Given the description of an element on the screen output the (x, y) to click on. 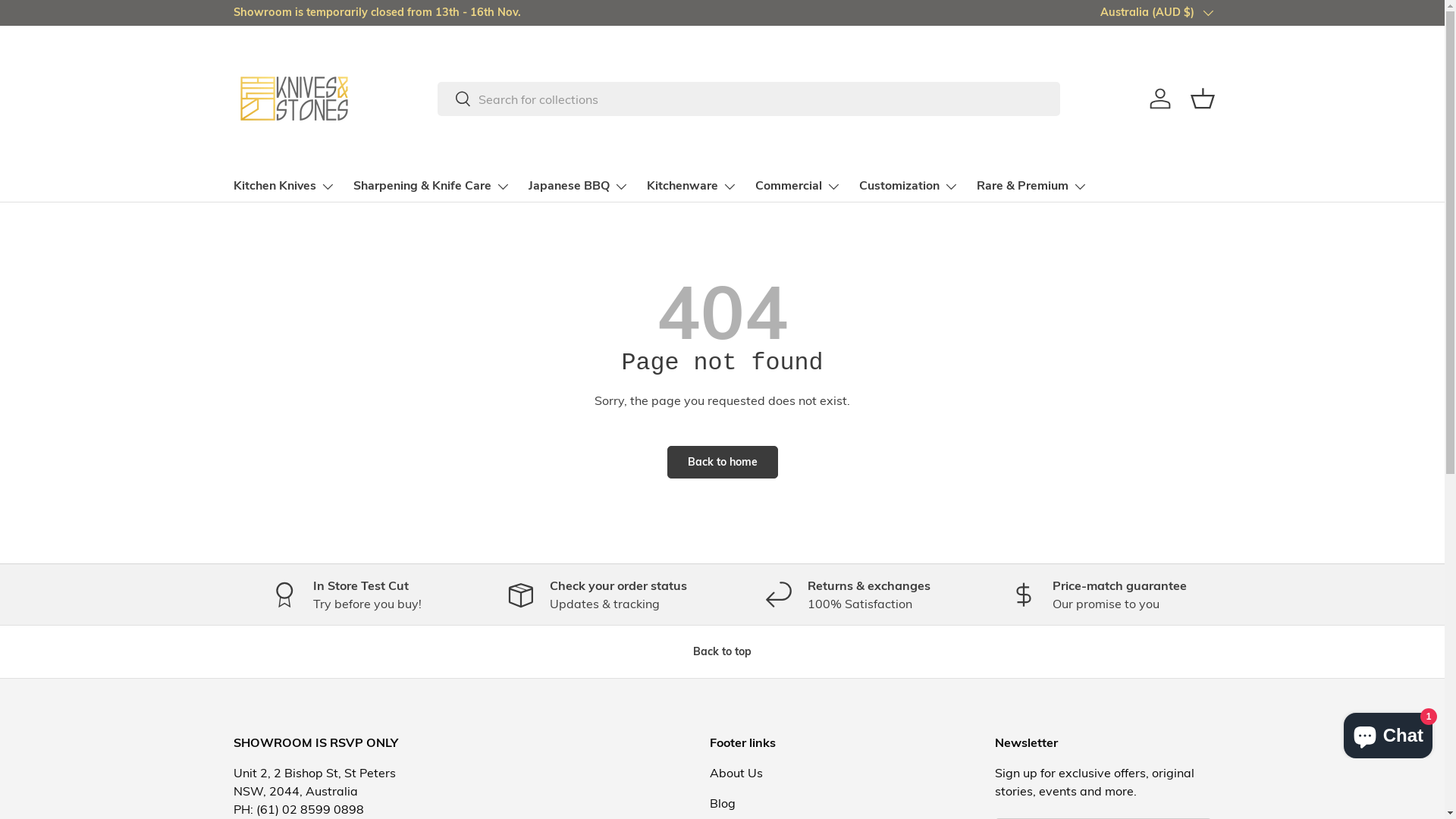
Rare & Premium Element type: text (1031, 186)
Japanese BBQ Element type: text (577, 186)
Blog Element type: text (722, 802)
Commercial Element type: text (797, 186)
Back to top Element type: text (722, 651)
Australia (AUD $) Element type: text (1155, 12)
Basket Element type: text (1202, 98)
Sharpening & Knife Care Element type: text (431, 186)
Log in Element type: text (1159, 98)
Back to home Element type: text (722, 461)
Kitchen Knives Element type: text (284, 186)
Customization Element type: text (907, 186)
Search Element type: text (454, 99)
Shopify online store chat Element type: hover (1388, 732)
About Us Element type: text (735, 772)
Kitchenware Element type: text (691, 186)
Skip to content Element type: text (67, 21)
